Given the description of an element on the screen output the (x, y) to click on. 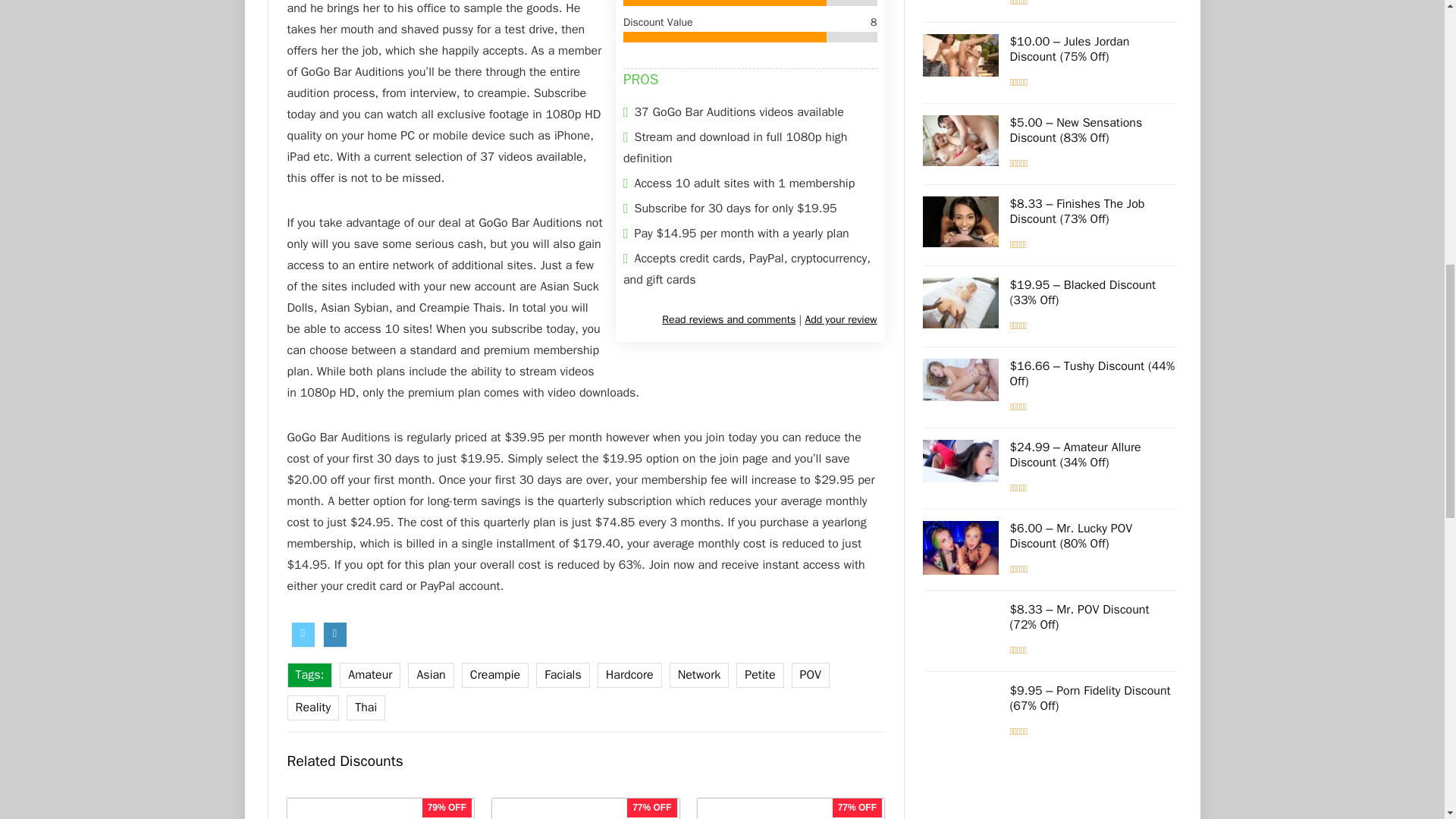
Add your review (840, 319)
Hardcore (629, 674)
Facials (562, 674)
Asian (429, 674)
Network (699, 674)
Read reviews and comments (728, 319)
Creampie (494, 674)
Add your review (840, 319)
Read reviews and comments (728, 319)
Amateur (369, 674)
Petite (759, 674)
POV (810, 674)
Thai (365, 707)
Reality (312, 707)
